Given the description of an element on the screen output the (x, y) to click on. 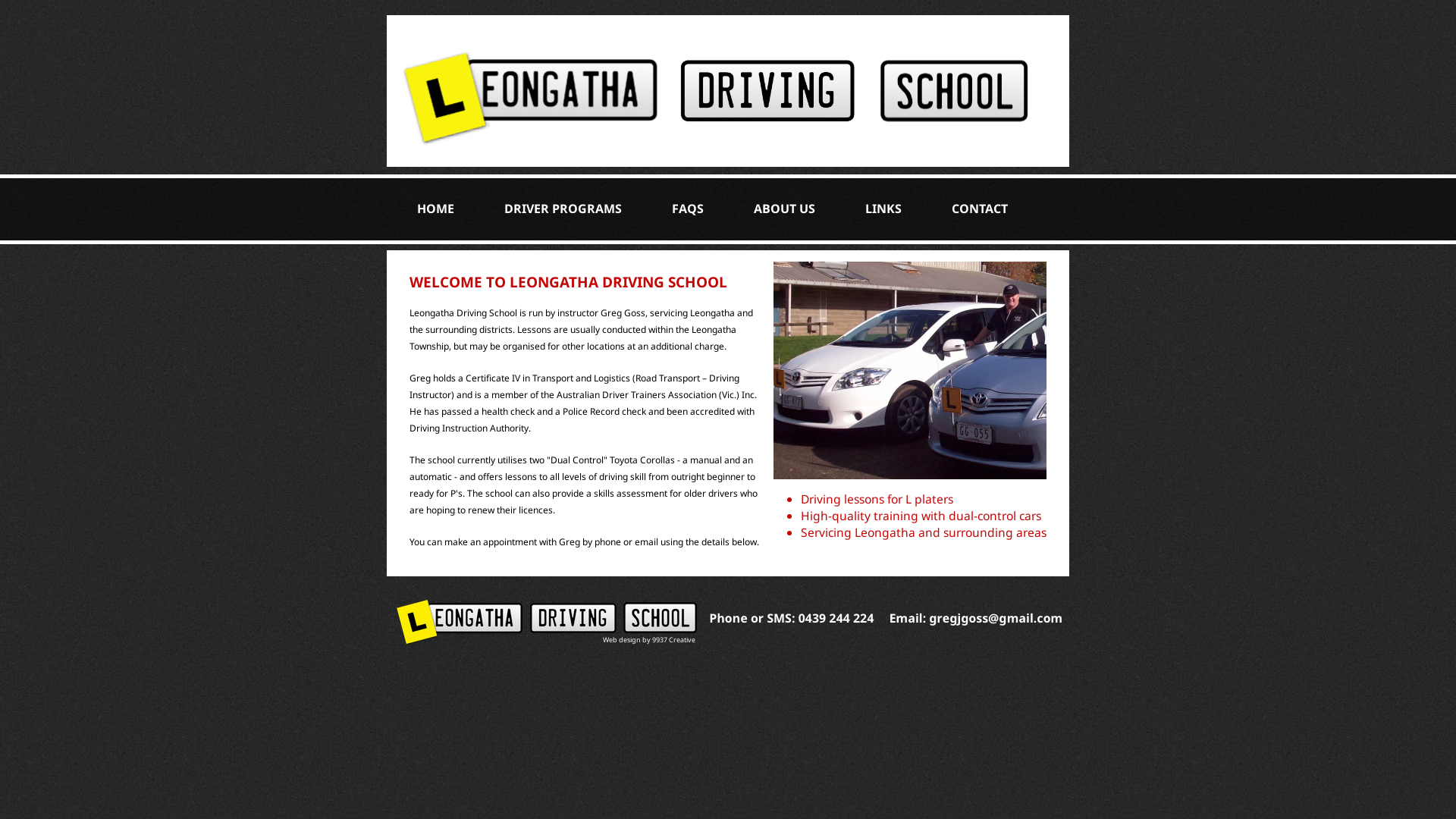
HOME Element type: text (435, 208)
CONTACT Element type: text (979, 208)
FAQS Element type: text (687, 208)
LINKS Element type: text (883, 208)
ABOUT US Element type: text (784, 208)
Web design by 9937 Creative Element type: text (648, 639)
DRIVER PROGRAMS Element type: text (562, 208)
